Given the description of an element on the screen output the (x, y) to click on. 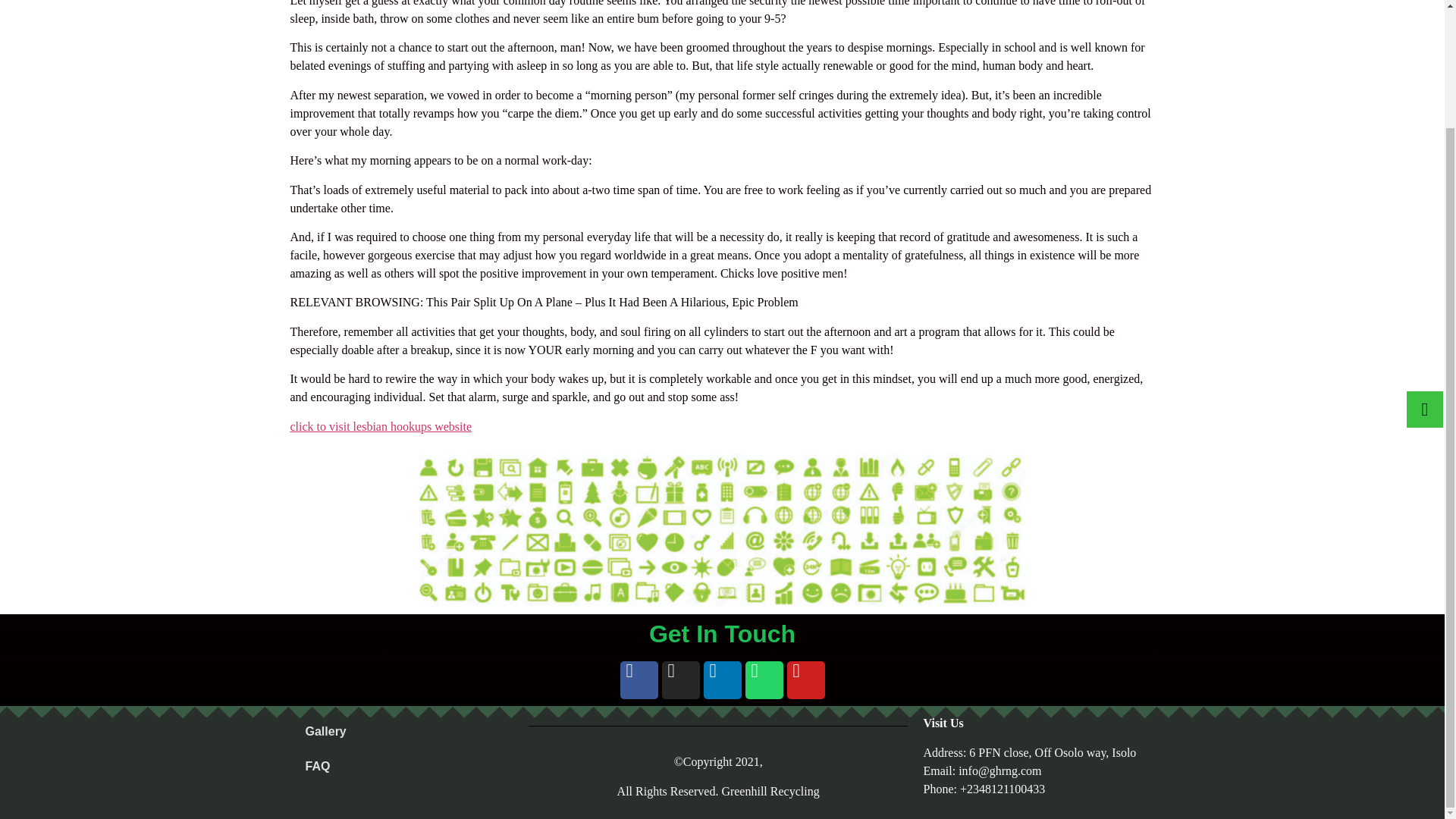
Gallery (403, 731)
FAQ (403, 766)
click to visit lesbian hookups website (380, 426)
